Given the description of an element on the screen output the (x, y) to click on. 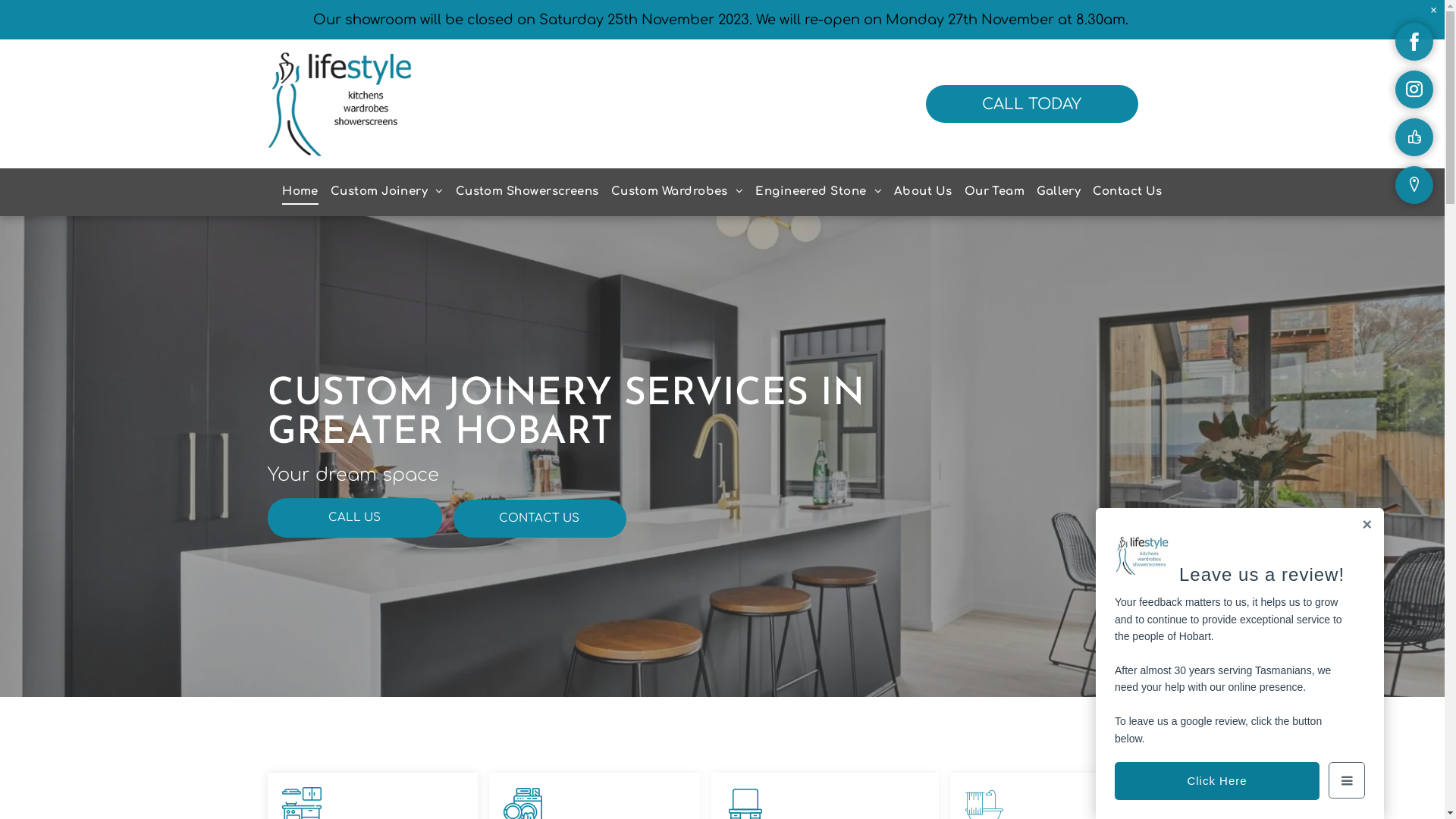
Custom Wardrobes Element type: text (677, 191)
CONTACT US Element type: text (539, 517)
Gallery Element type: text (1058, 191)
Lifestyle Kitchens, Wardrobes & Showerscreens Element type: hover (338, 103)
Home Element type: text (300, 191)
CALL TODAY Element type: text (1031, 103)
Custom Joinery Element type: text (386, 191)
CALL US Element type: text (353, 516)
About Us Element type: text (923, 191)
Engineered Stone Element type: text (818, 191)
Click Here Element type: text (1216, 781)
Contact Us Element type: text (1127, 191)
Our Team Element type: text (994, 191)
Custom Showerscreens Element type: text (527, 191)
